Given the description of an element on the screen output the (x, y) to click on. 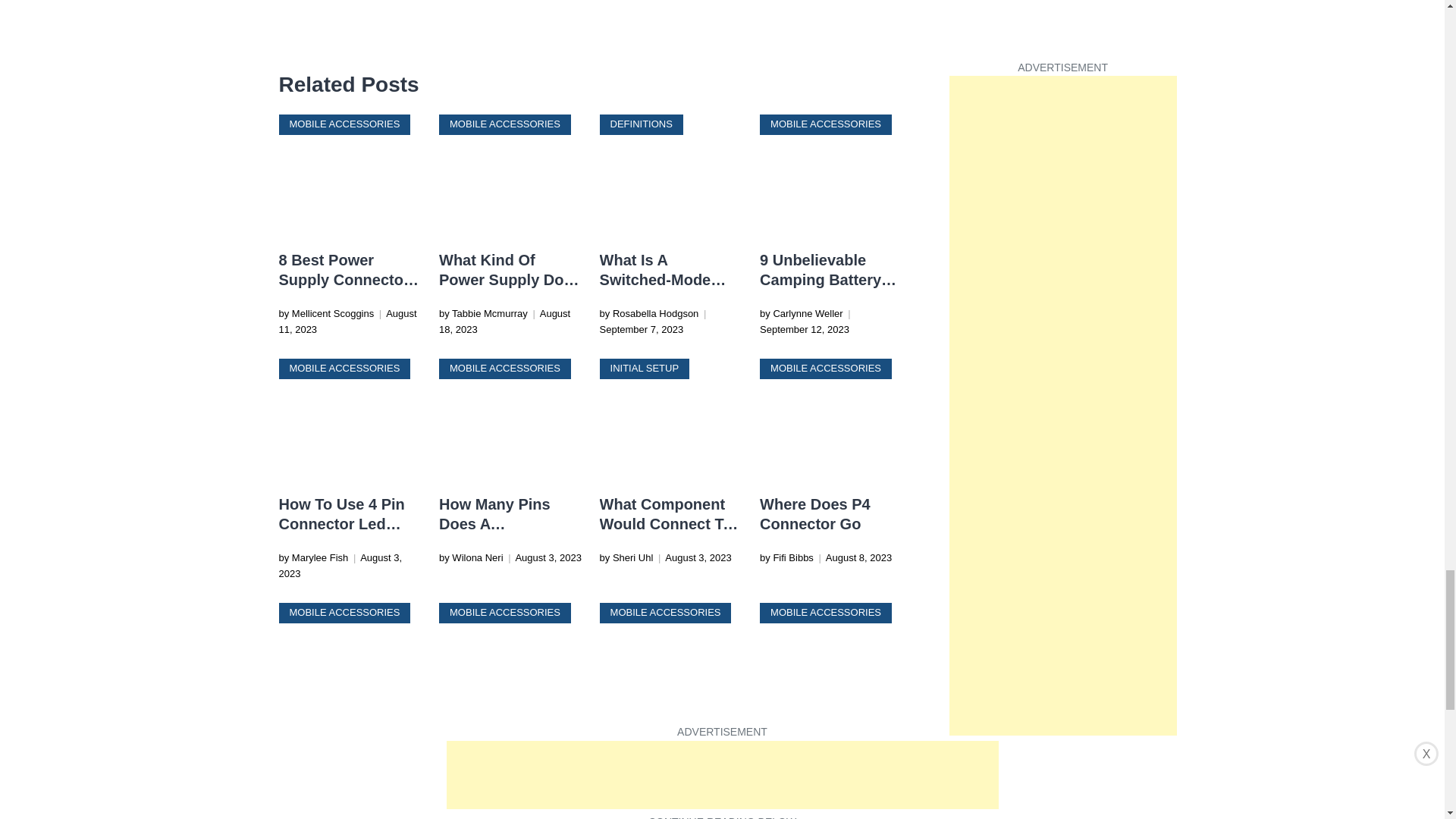
Share on twitter (321, 41)
Share on facebook (291, 41)
